Given the description of an element on the screen output the (x, y) to click on. 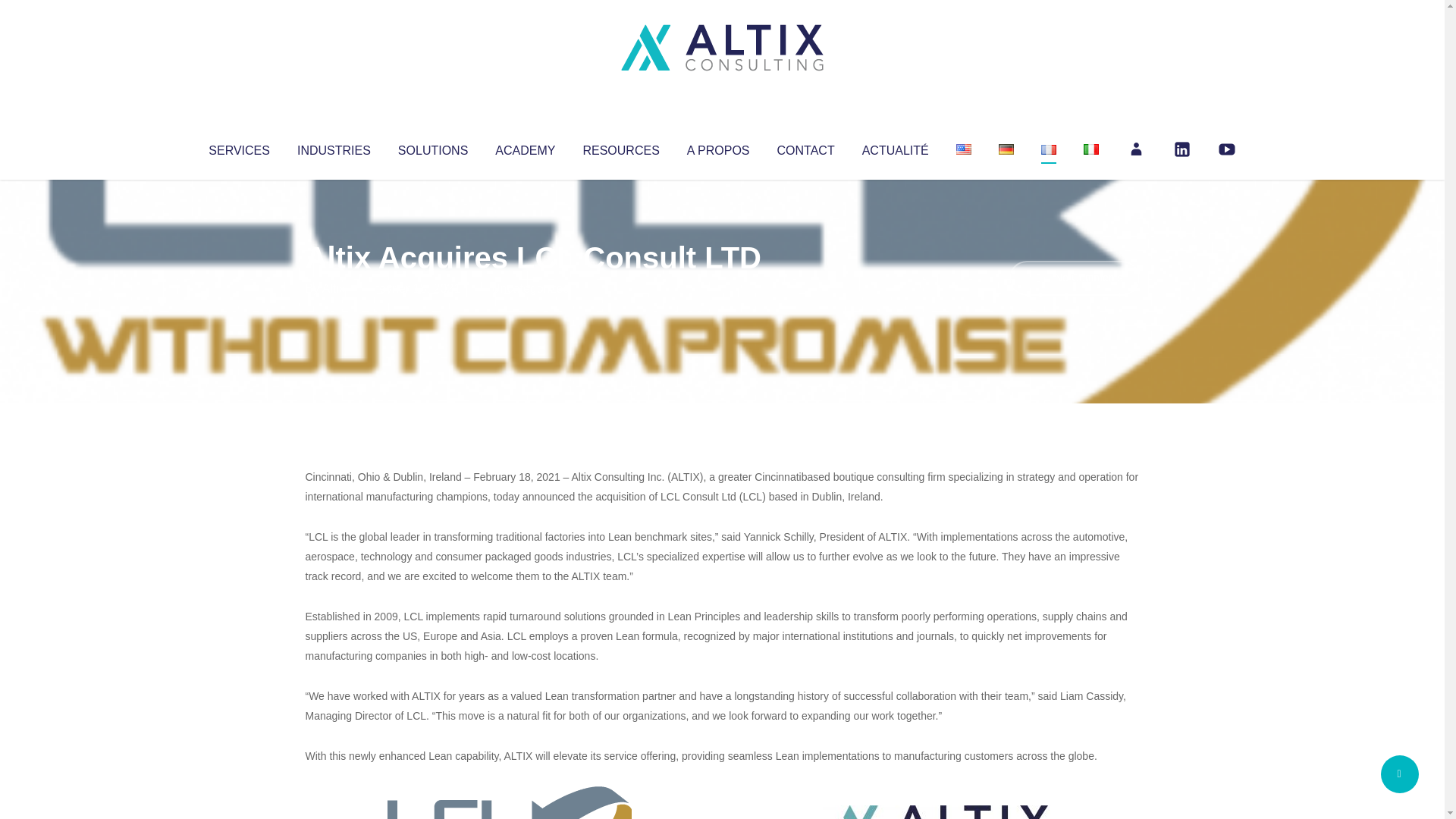
Articles par Altix (333, 287)
No Comments (1073, 278)
A PROPOS (718, 146)
SOLUTIONS (432, 146)
ACADEMY (524, 146)
SERVICES (238, 146)
RESOURCES (620, 146)
INDUSTRIES (334, 146)
Altix (333, 287)
Uncategorized (530, 287)
